Given the description of an element on the screen output the (x, y) to click on. 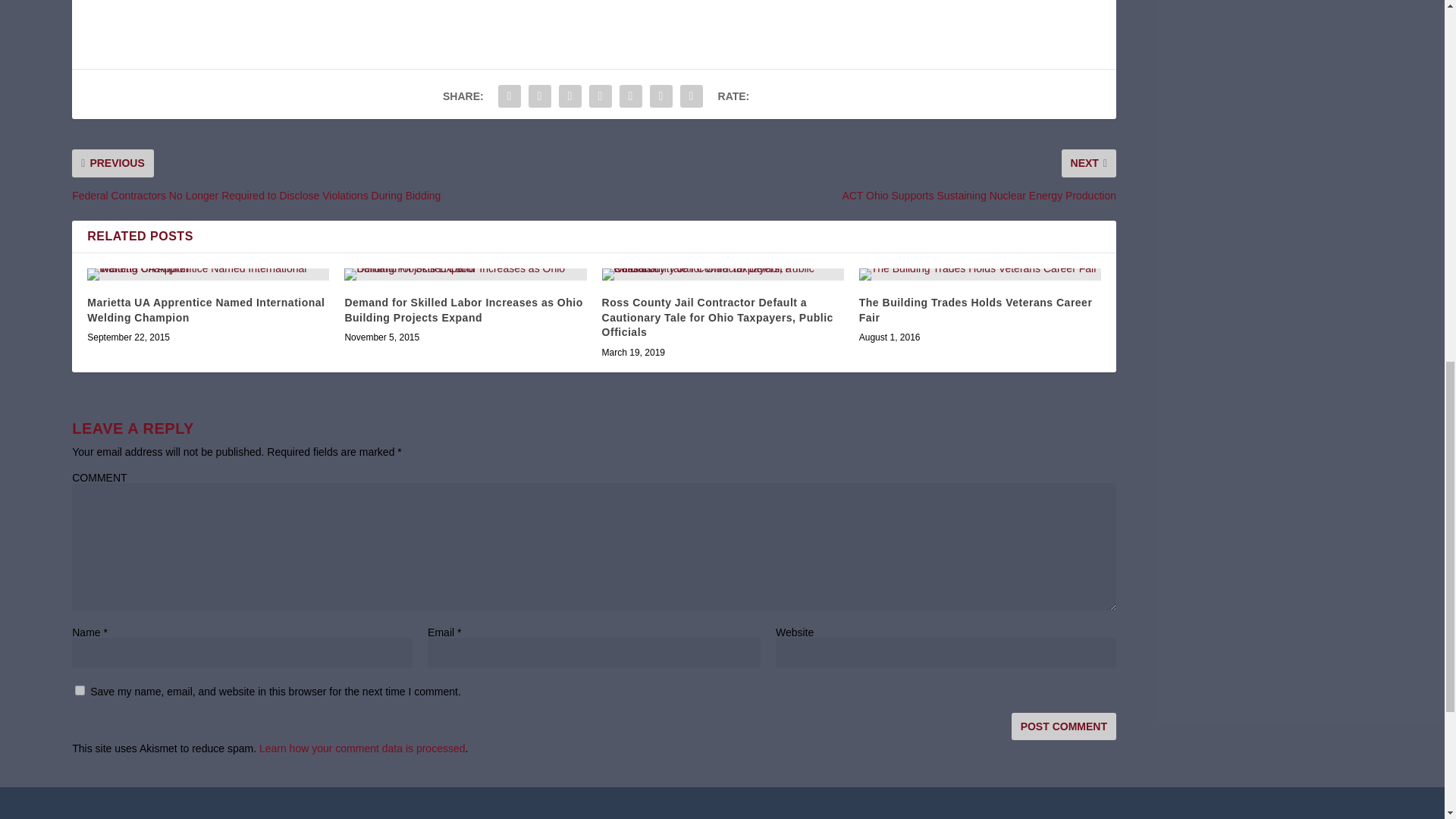
Marietta UA Apprentice Named International Welding Champion (208, 274)
Post Comment (1063, 726)
yes (79, 690)
